Given the description of an element on the screen output the (x, y) to click on. 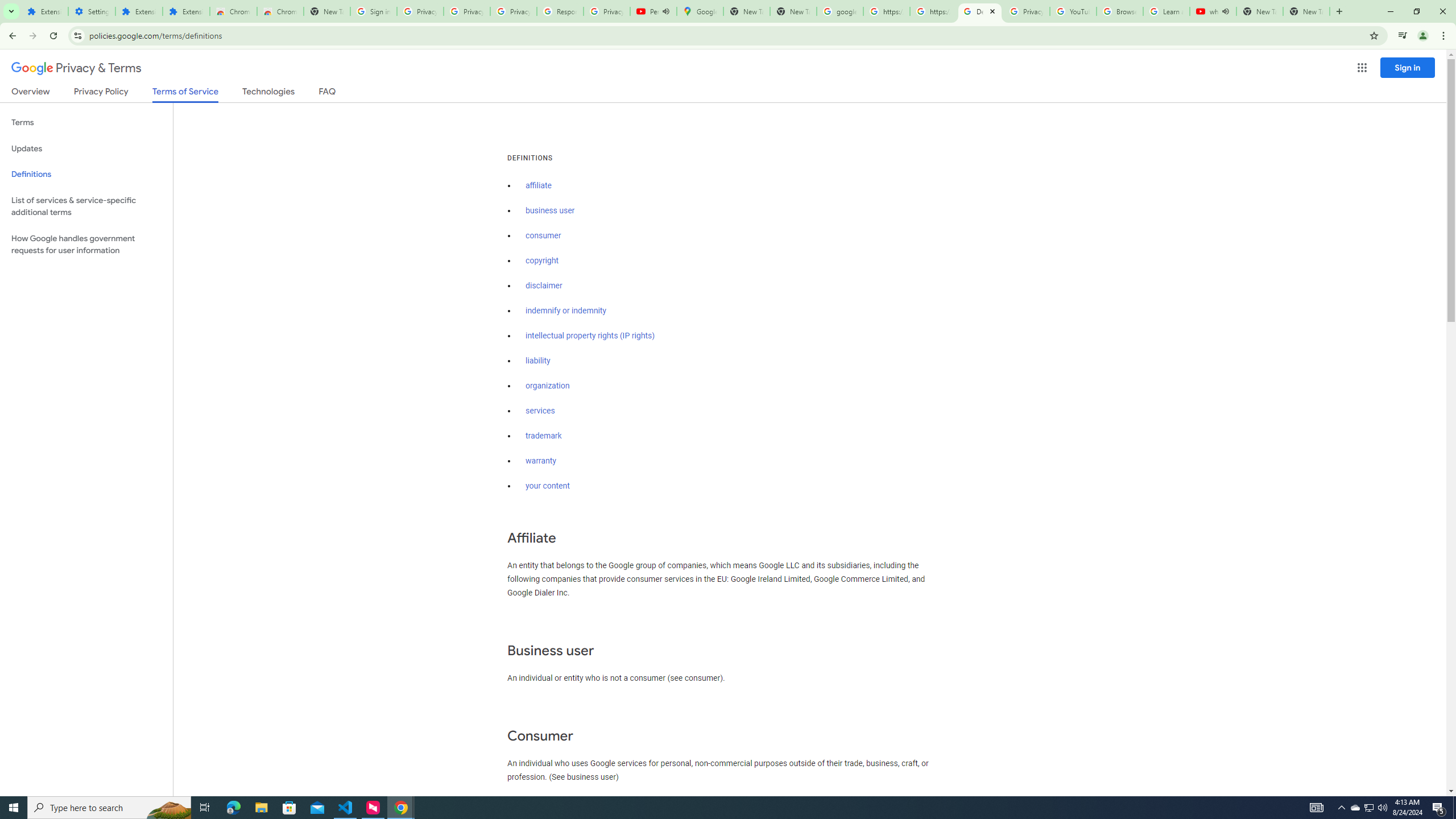
organization (547, 385)
Settings (91, 11)
Sign in - Google Accounts (373, 11)
intellectual property rights (IP rights) (590, 335)
YouTube (1073, 11)
Google Maps (699, 11)
services (539, 411)
